Given the description of an element on the screen output the (x, y) to click on. 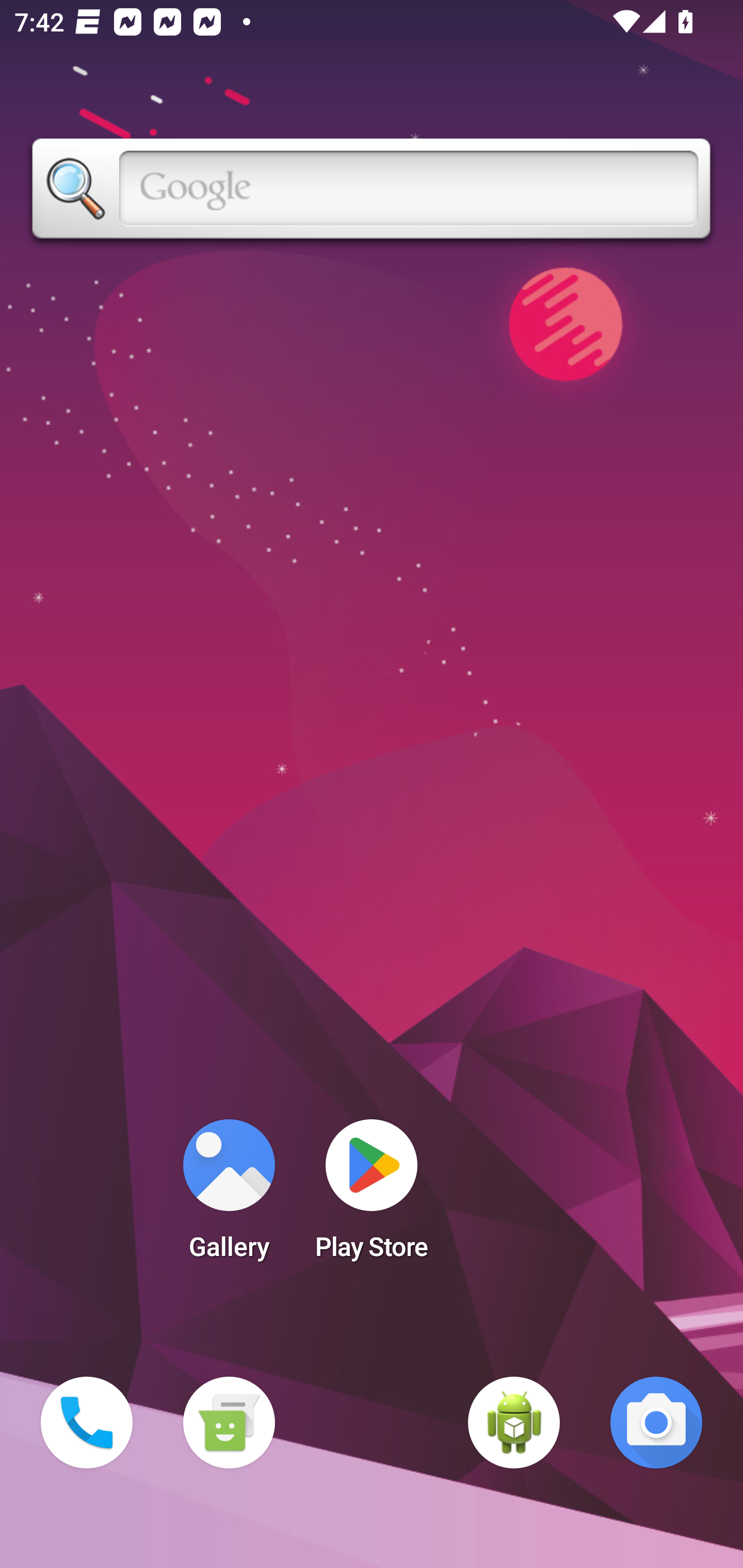
Gallery (228, 1195)
Play Store (371, 1195)
Phone (86, 1422)
Messaging (228, 1422)
WebView Browser Tester (513, 1422)
Camera (656, 1422)
